Given the description of an element on the screen output the (x, y) to click on. 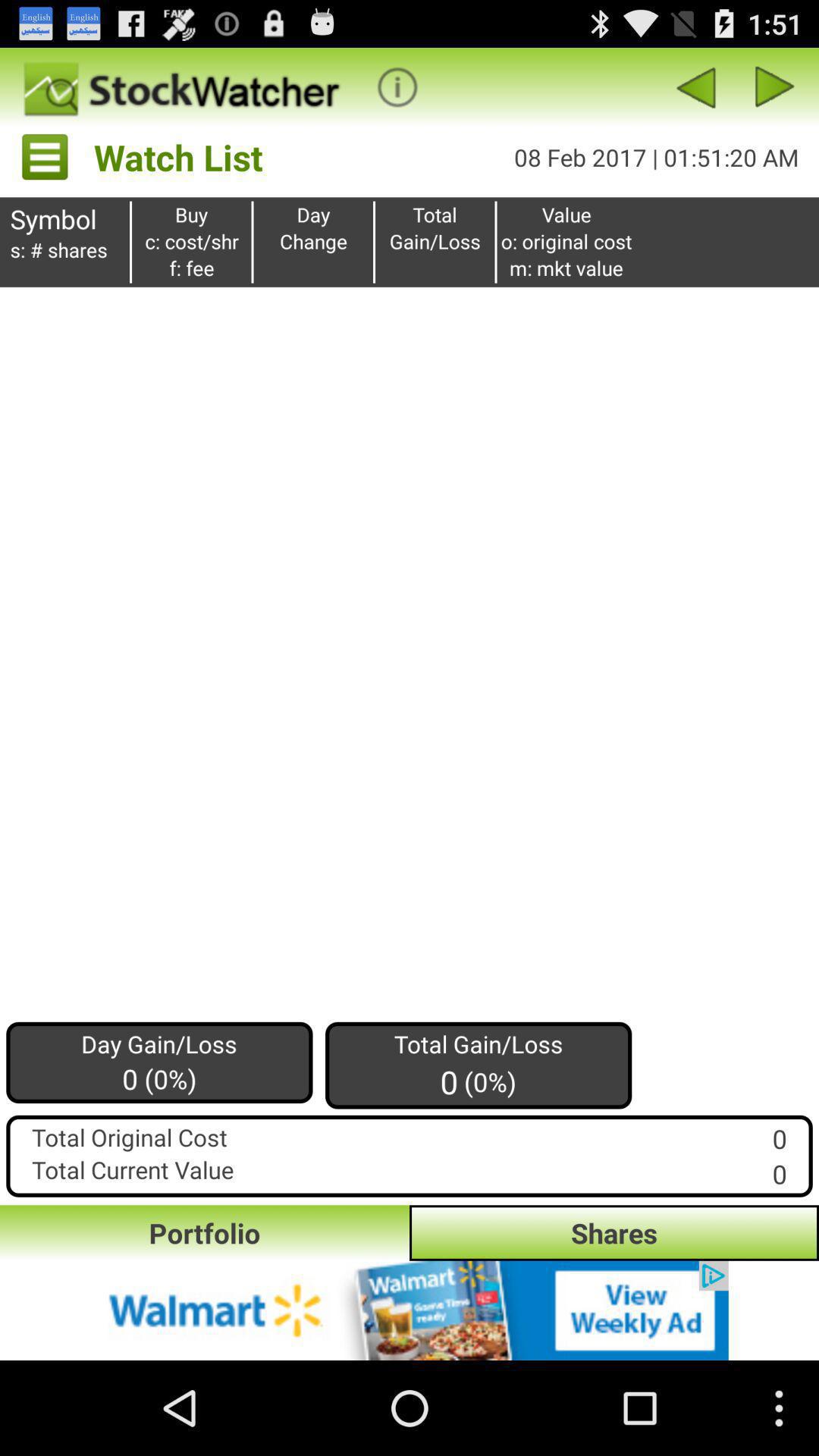
know about the advertisement (409, 1310)
